Given the description of an element on the screen output the (x, y) to click on. 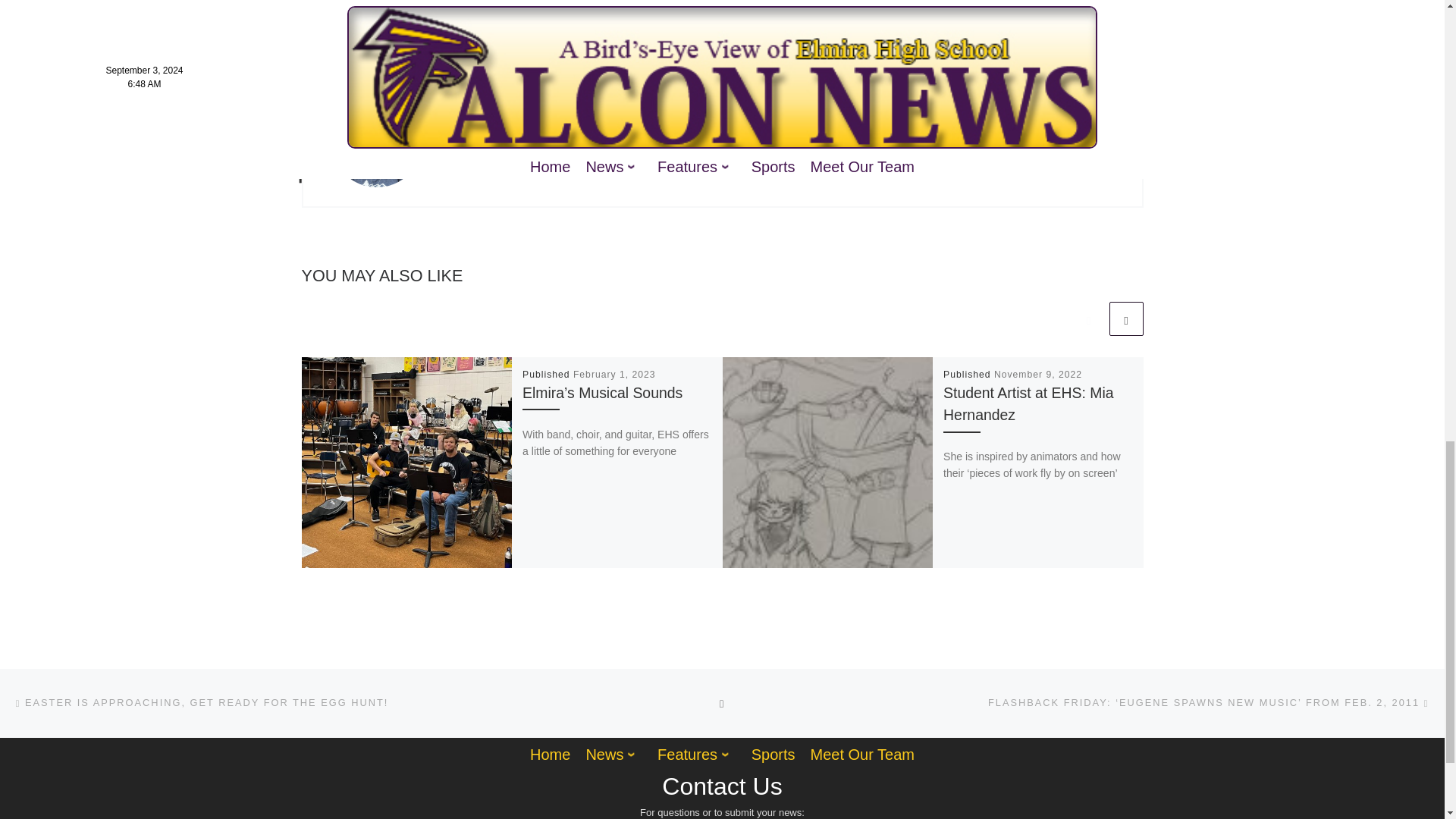
November 9, 2022 (1037, 374)
Previous related articles (1088, 318)
Next related articles (1125, 318)
53 POSTS (478, 169)
EASTER IS APPROACHING, GET READY FOR THE EGG HUNT! (199, 702)
February 1, 2023 (614, 374)
View all the posts of the author (478, 169)
Student Artist at EHS: Mia Hernandez (1028, 403)
